Given the description of an element on the screen output the (x, y) to click on. 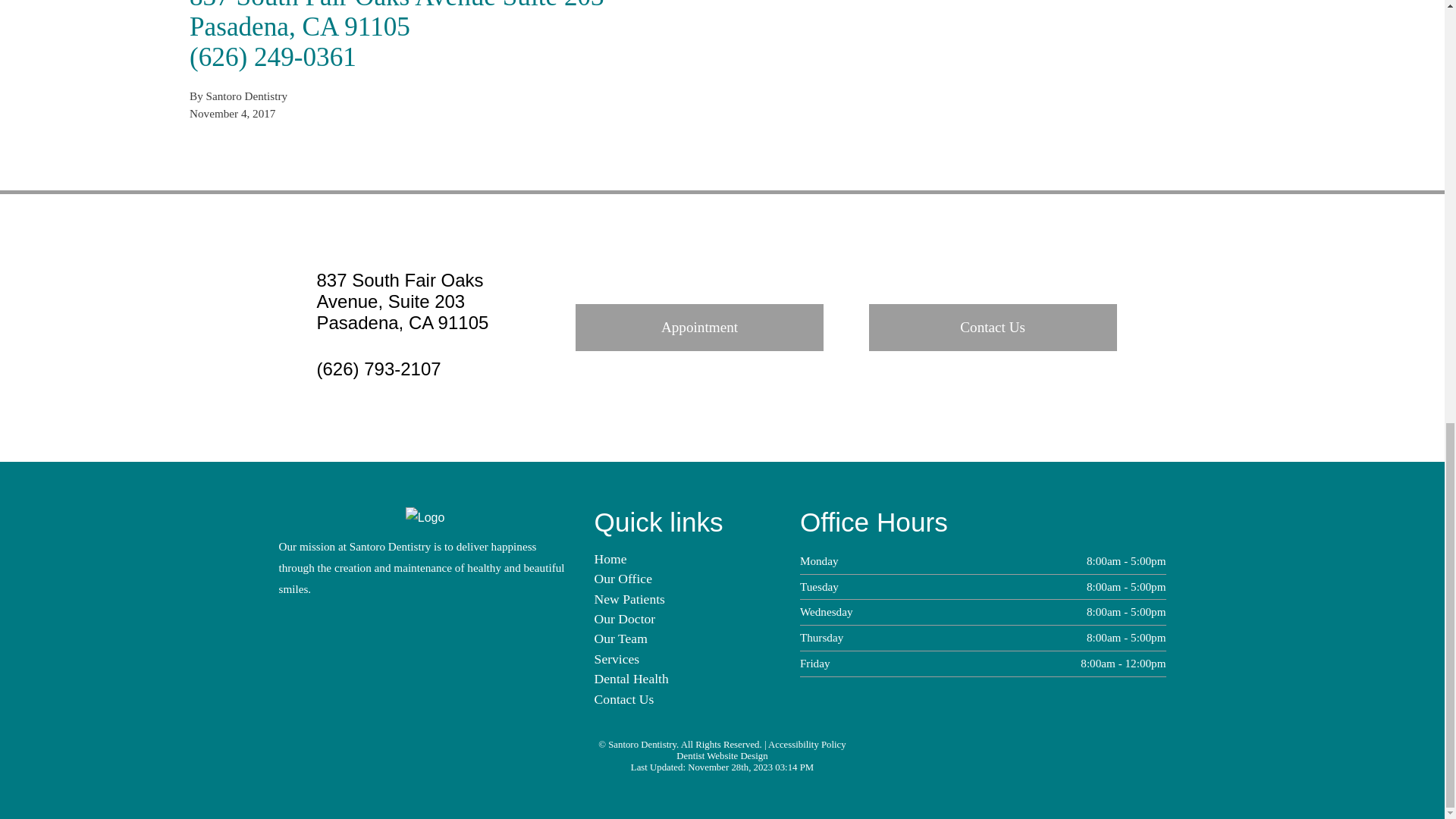
New Patients (629, 598)
Dentist Website Design (722, 756)
Home (610, 558)
Services (617, 658)
Accessibility Policy (806, 744)
Appointment (699, 327)
Dental Health (631, 678)
Our Doctor (625, 618)
Our Office (623, 578)
Contact Us (623, 698)
Our Team (620, 638)
Contact Us (992, 327)
